Given the description of an element on the screen output the (x, y) to click on. 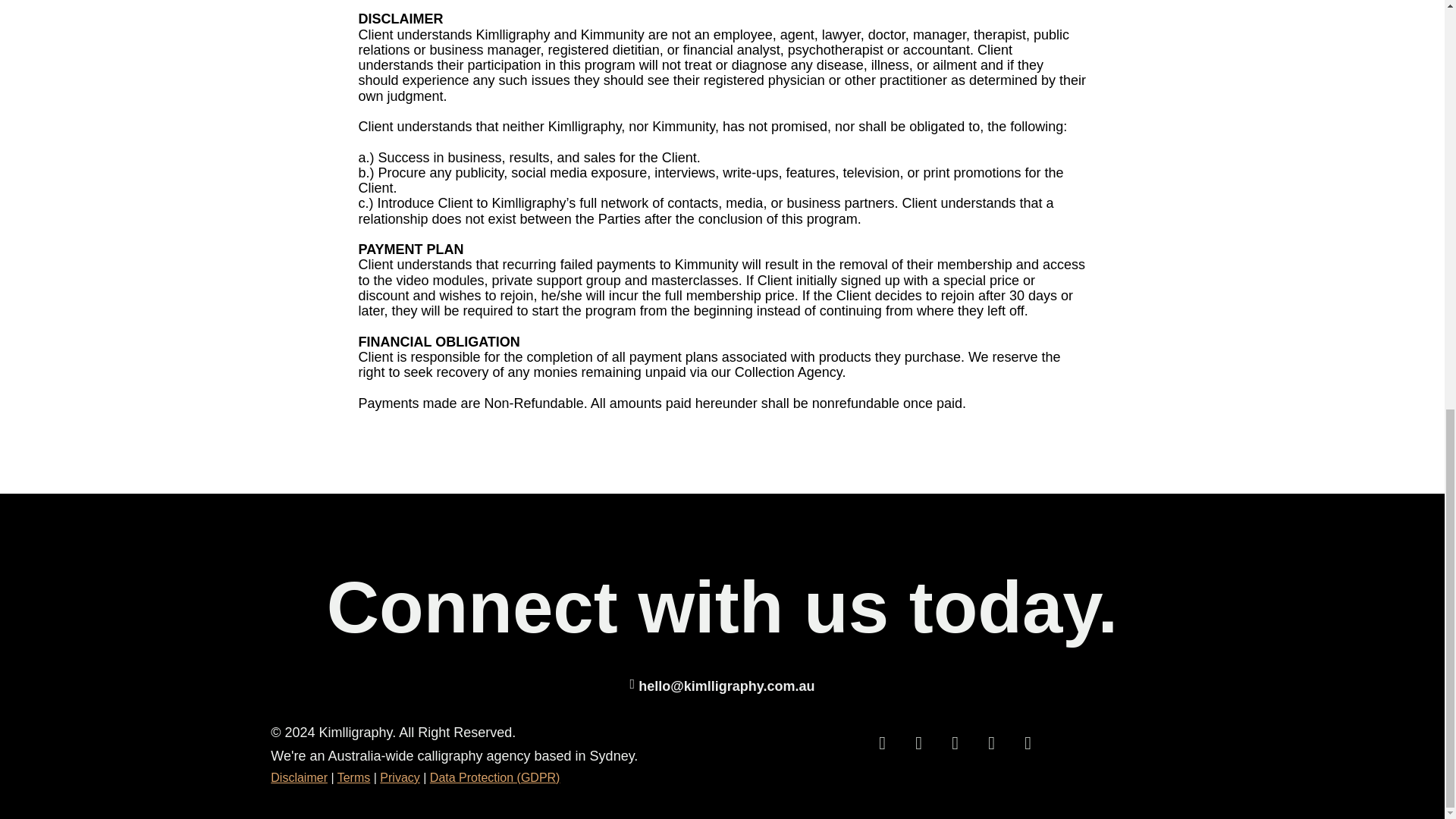
Terms (354, 777)
Share on Facebook (955, 742)
Share on Instagram (882, 742)
Disclaimer (298, 777)
Share on LinkedIn (919, 742)
Share on TikTok (1028, 742)
Privacy (399, 777)
Share on Youtube (992, 742)
